Given the description of an element on the screen output the (x, y) to click on. 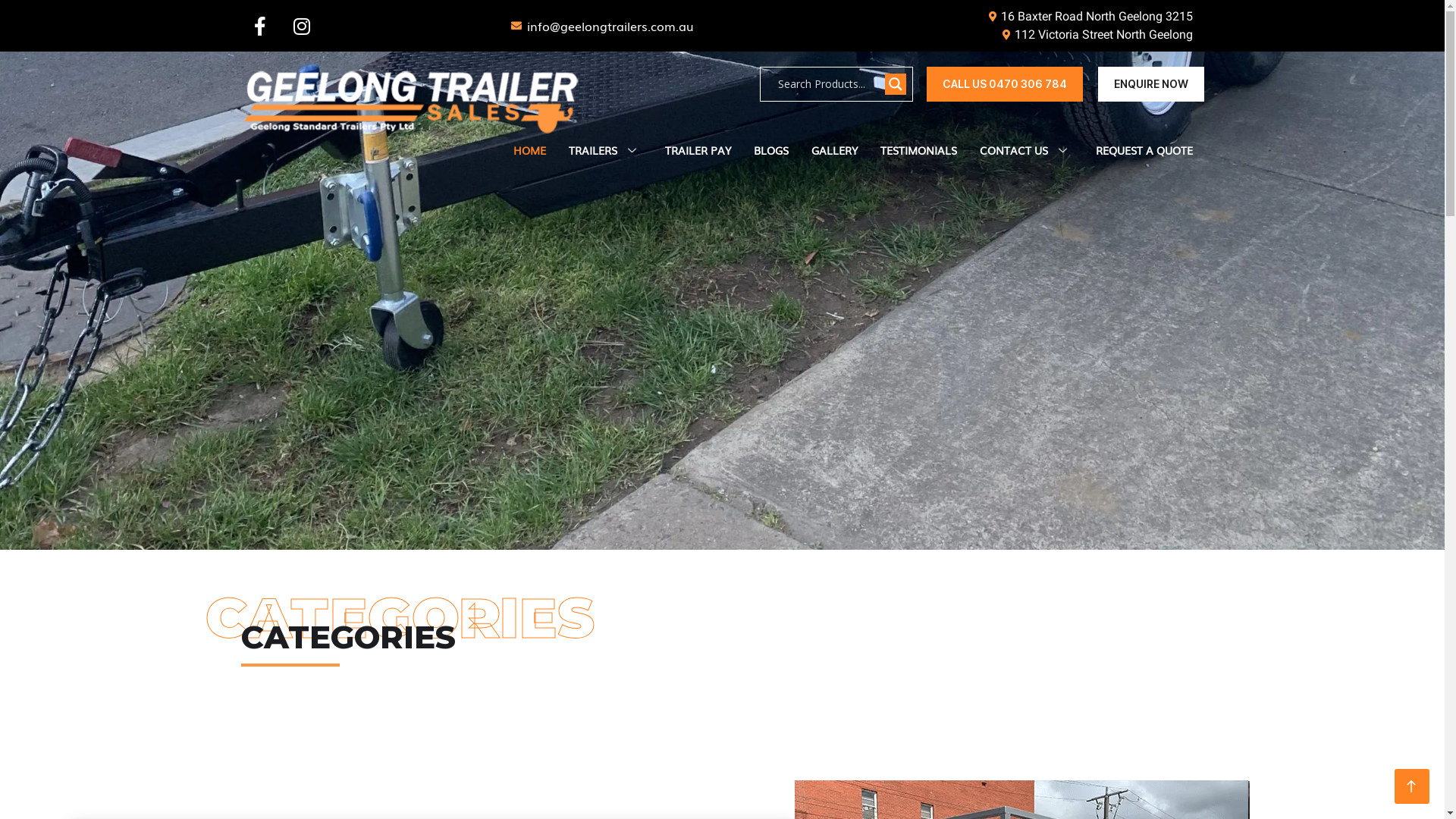
GALLERY Element type: text (833, 150)
info@geelongtrailers.com.au Element type: text (601, 25)
TRAILER PAY Element type: text (697, 150)
HOME Element type: text (529, 150)
BLOGS Element type: text (770, 150)
CONTACT US Element type: text (1025, 150)
ENQUIRE NOW Element type: text (1151, 83)
CALL US 0470 306 784 Element type: text (1004, 83)
TESTIMONIALS Element type: text (918, 150)
REQUEST A QUOTE Element type: text (1144, 150)
TRAILERS Element type: text (604, 150)
